Given the description of an element on the screen output the (x, y) to click on. 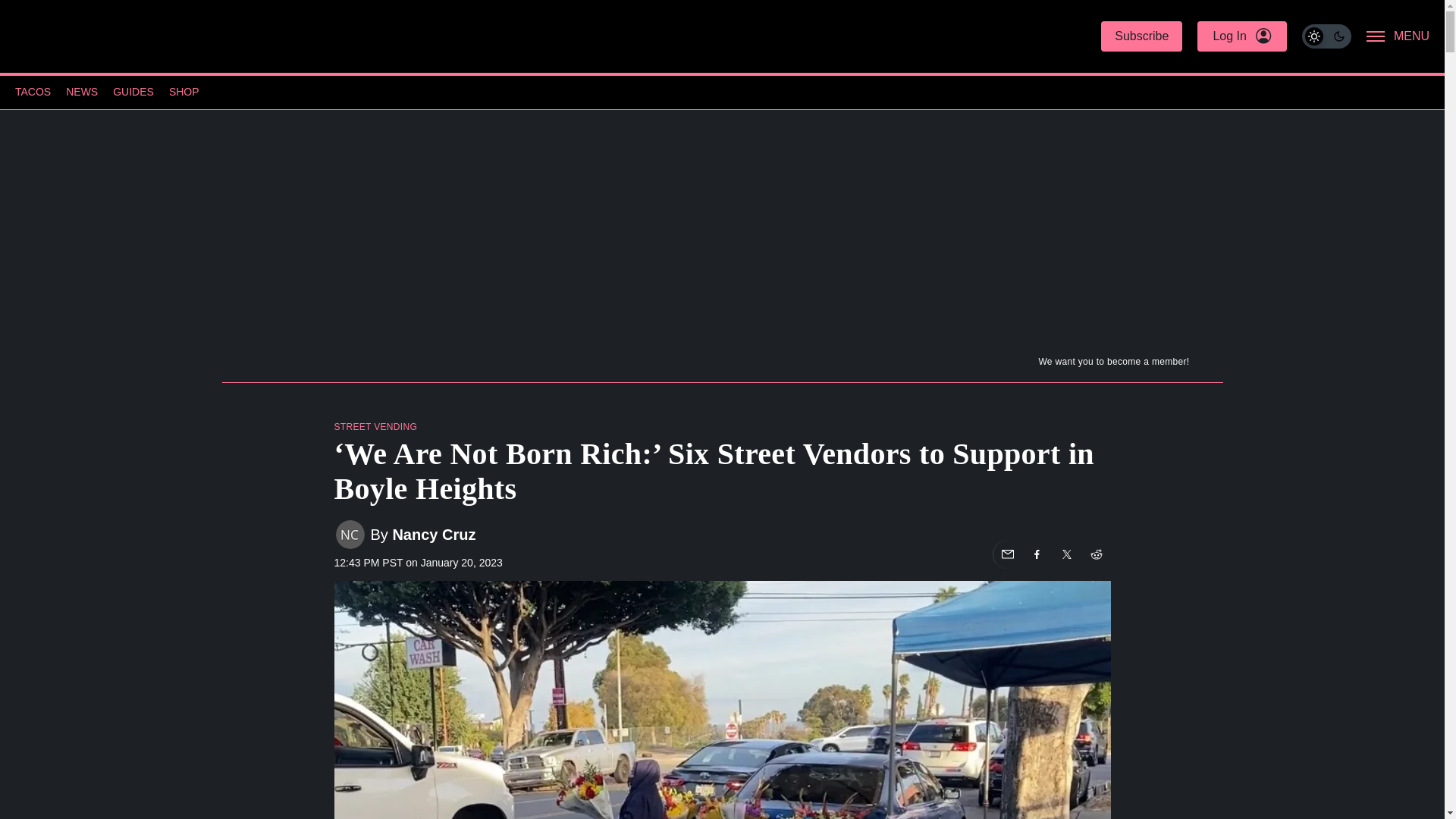
We want you to become a member! (721, 365)
MENU (1398, 36)
NEWS (81, 92)
Log In (1240, 36)
Share on Email (1007, 553)
Subscribe (1141, 36)
Share on Facebook (1036, 553)
SHOP (183, 92)
STREET VENDING (374, 426)
